Given the description of an element on the screen output the (x, y) to click on. 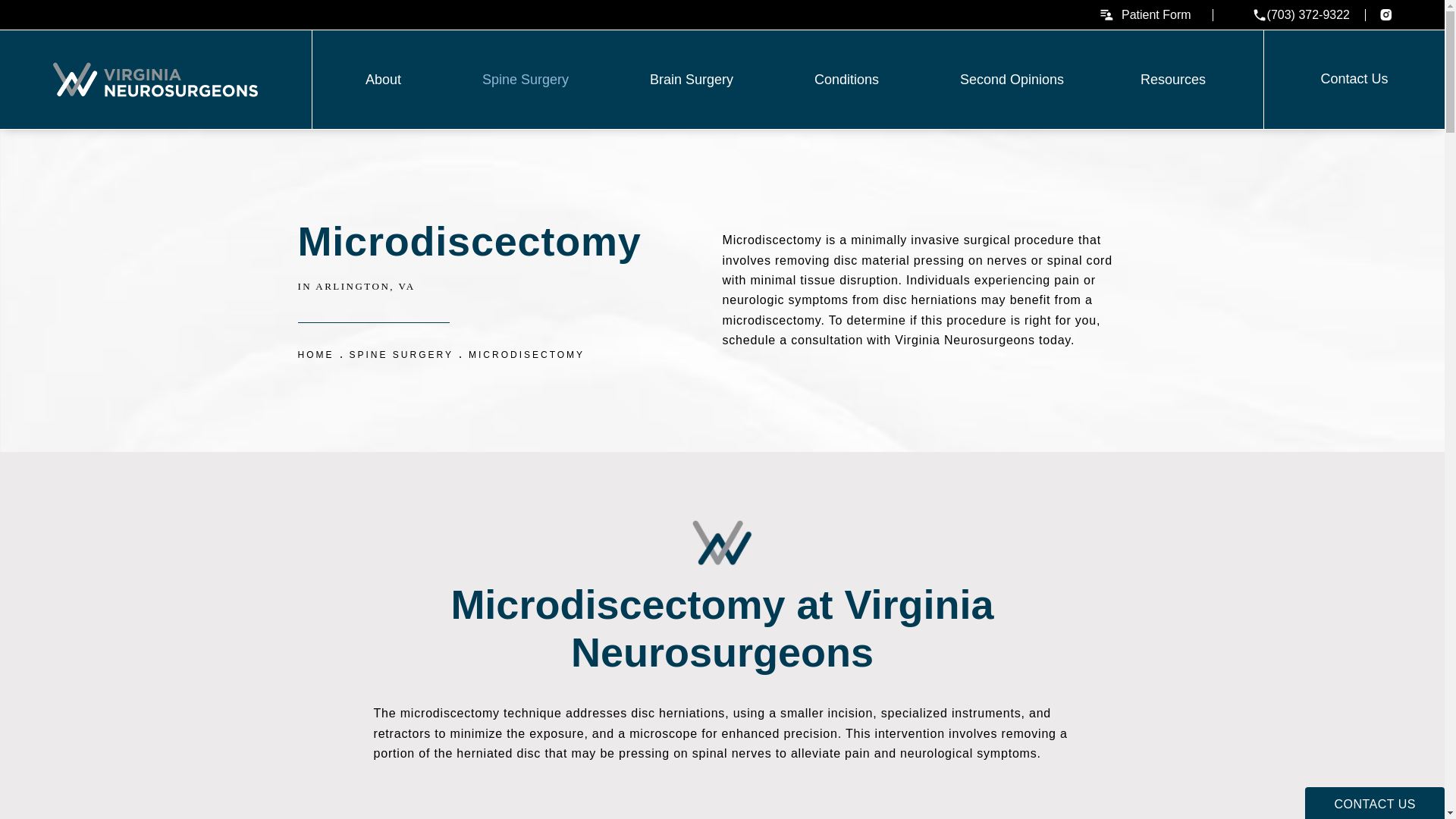
Patient Form (1145, 14)
Conditions (848, 79)
Spine Surgery (527, 79)
Brain Surgery (693, 79)
About (385, 79)
